Given the description of an element on the screen output the (x, y) to click on. 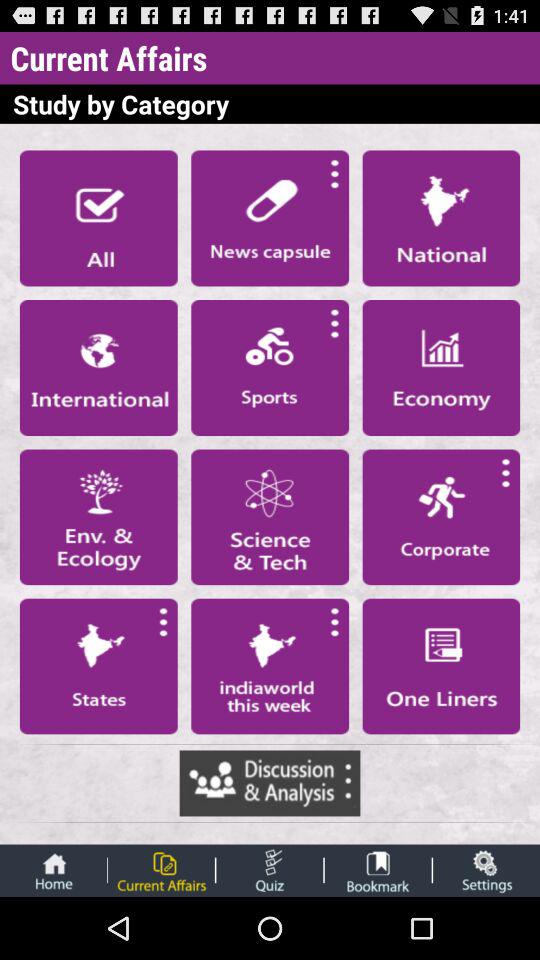
study national (441, 218)
